Given the description of an element on the screen output the (x, y) to click on. 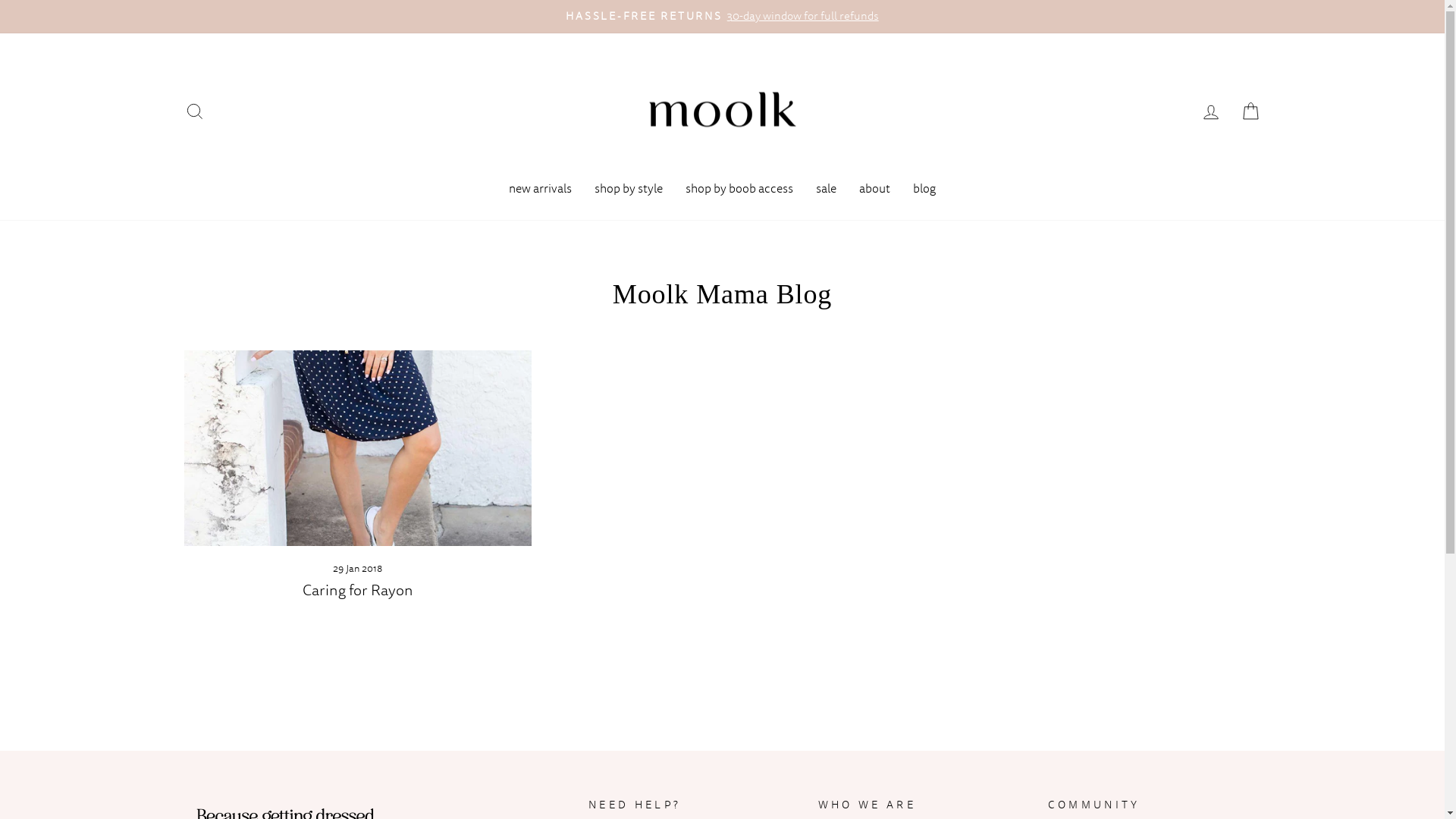
new arrivals Element type: text (540, 189)
Search Element type: text (193, 111)
blog Element type: text (924, 189)
shop by style Element type: text (628, 189)
HASSLE-FREE RETURNS30-day window for full refunds Element type: text (722, 16)
about Element type: text (874, 189)
Skip to content Element type: text (0, 0)
Log in Element type: text (1210, 111)
Caring for Rayon Element type: text (357, 590)
shop by boob access Element type: text (739, 189)
sale Element type: text (825, 189)
Cart Element type: text (1249, 111)
